Given the description of an element on the screen output the (x, y) to click on. 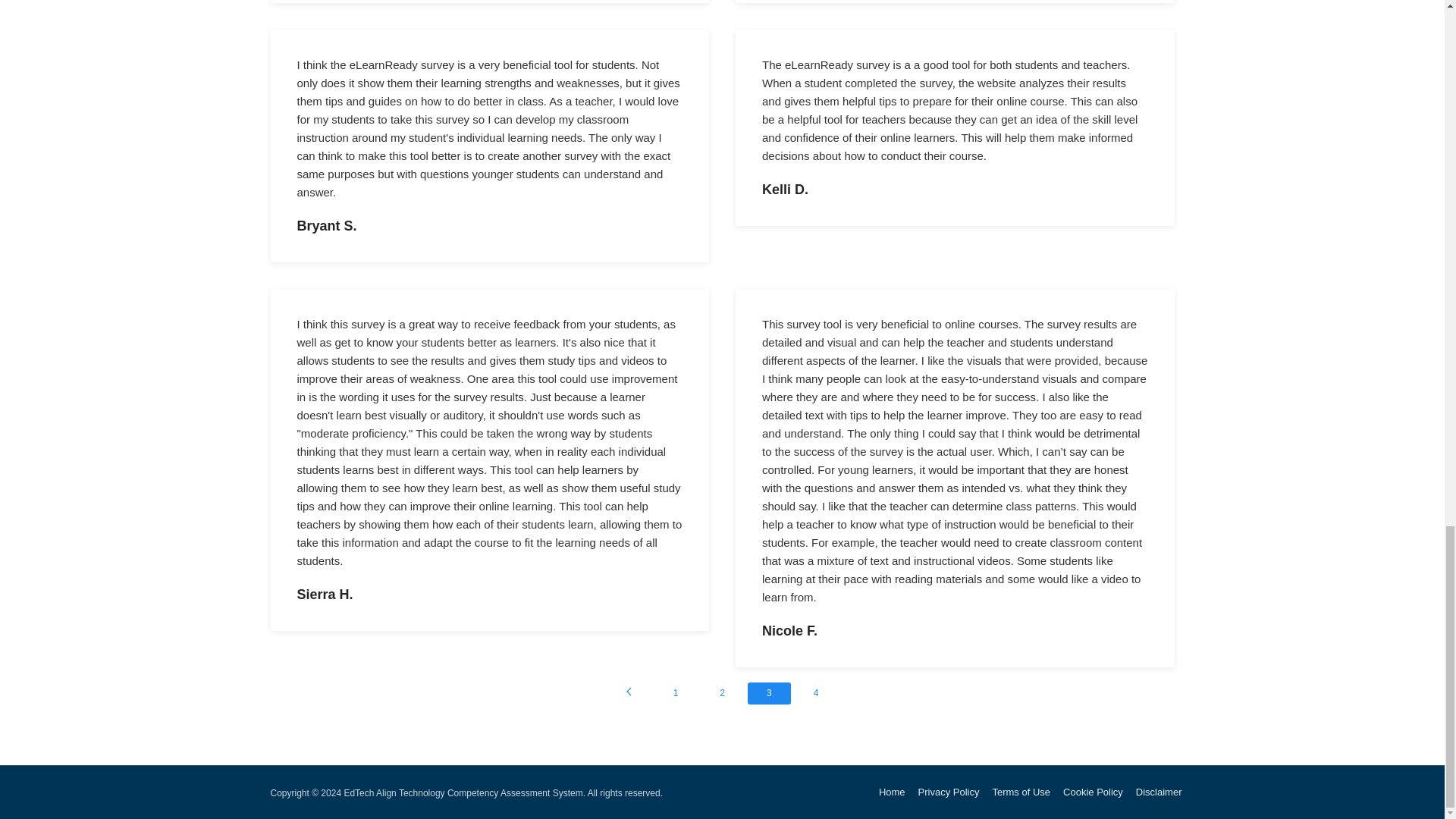
Terms of Use (1020, 792)
Cookie Policy (1092, 792)
Home (892, 792)
Disclaimer (1158, 792)
4 (816, 693)
Privacy Policy (948, 792)
2 (722, 693)
3 (769, 693)
1 (675, 693)
